Given the description of an element on the screen output the (x, y) to click on. 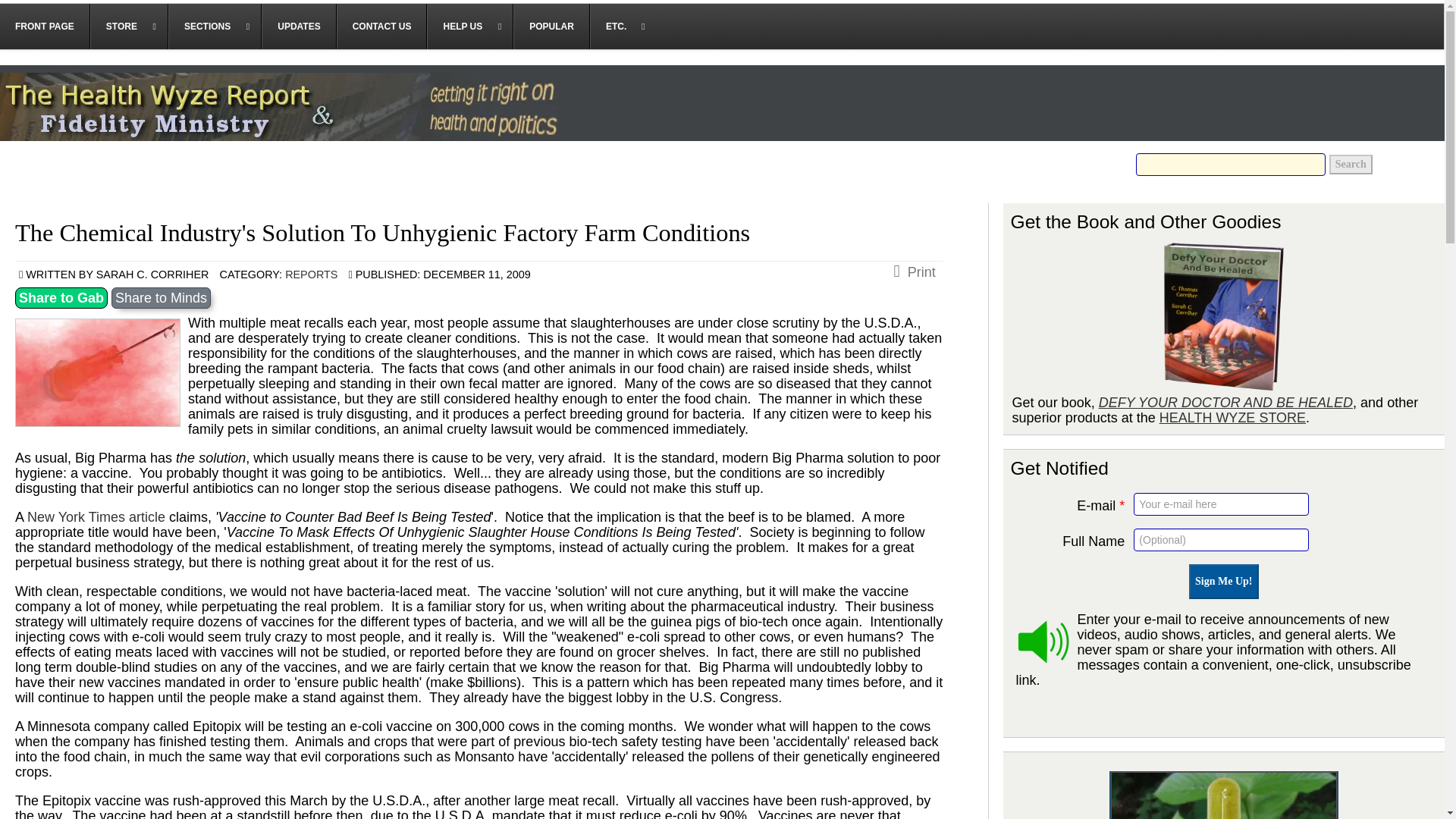
CONTACT US (382, 26)
Sign Me Up! (1223, 581)
STORE (129, 26)
Share to Minds (161, 297)
UPDATES (299, 26)
SECTIONS (215, 26)
Share to Gab (60, 297)
FRONT PAGE (45, 26)
HELP US (469, 26)
